Given the description of an element on the screen output the (x, y) to click on. 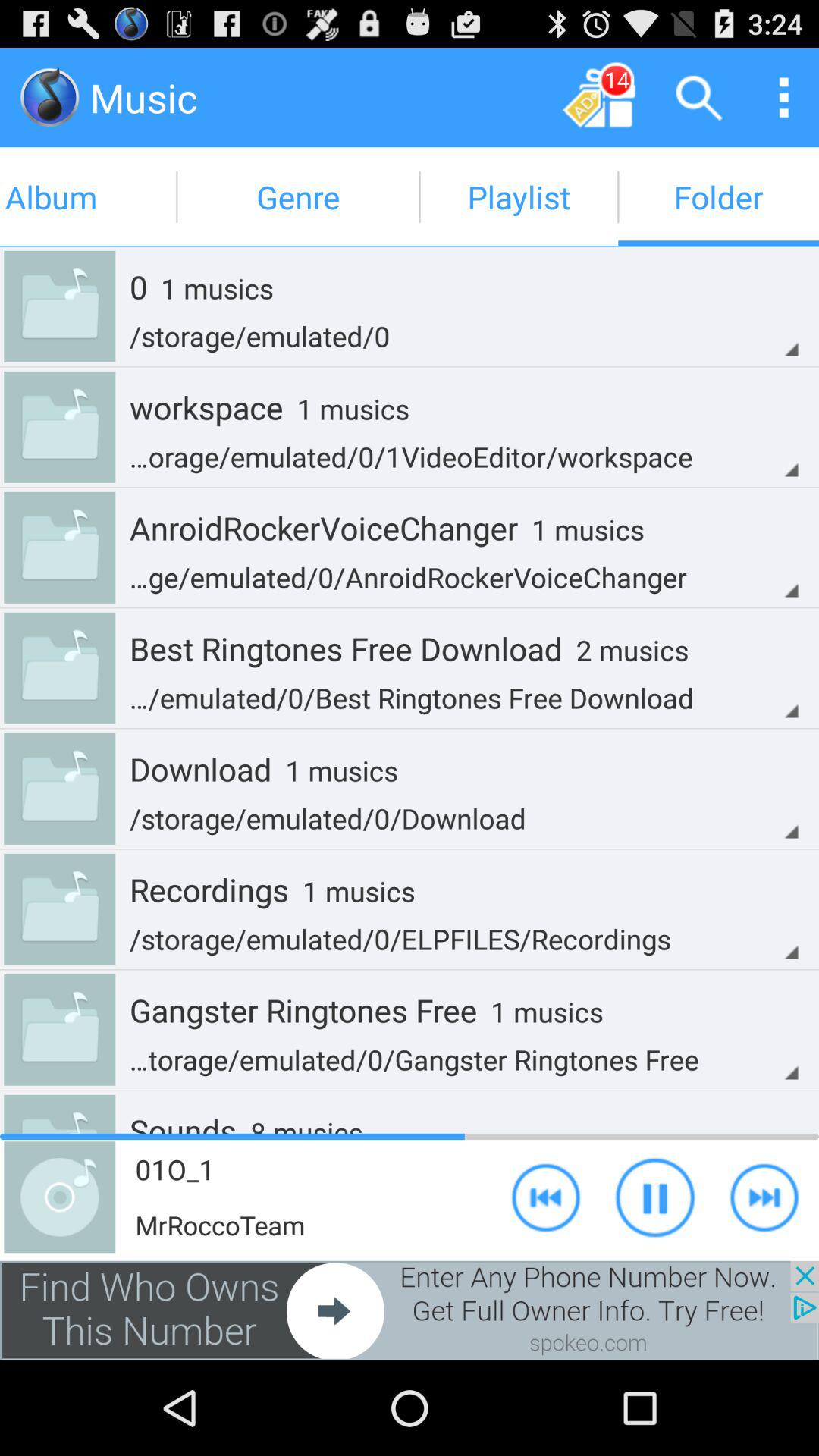
more actions (784, 97)
